Given the description of an element on the screen output the (x, y) to click on. 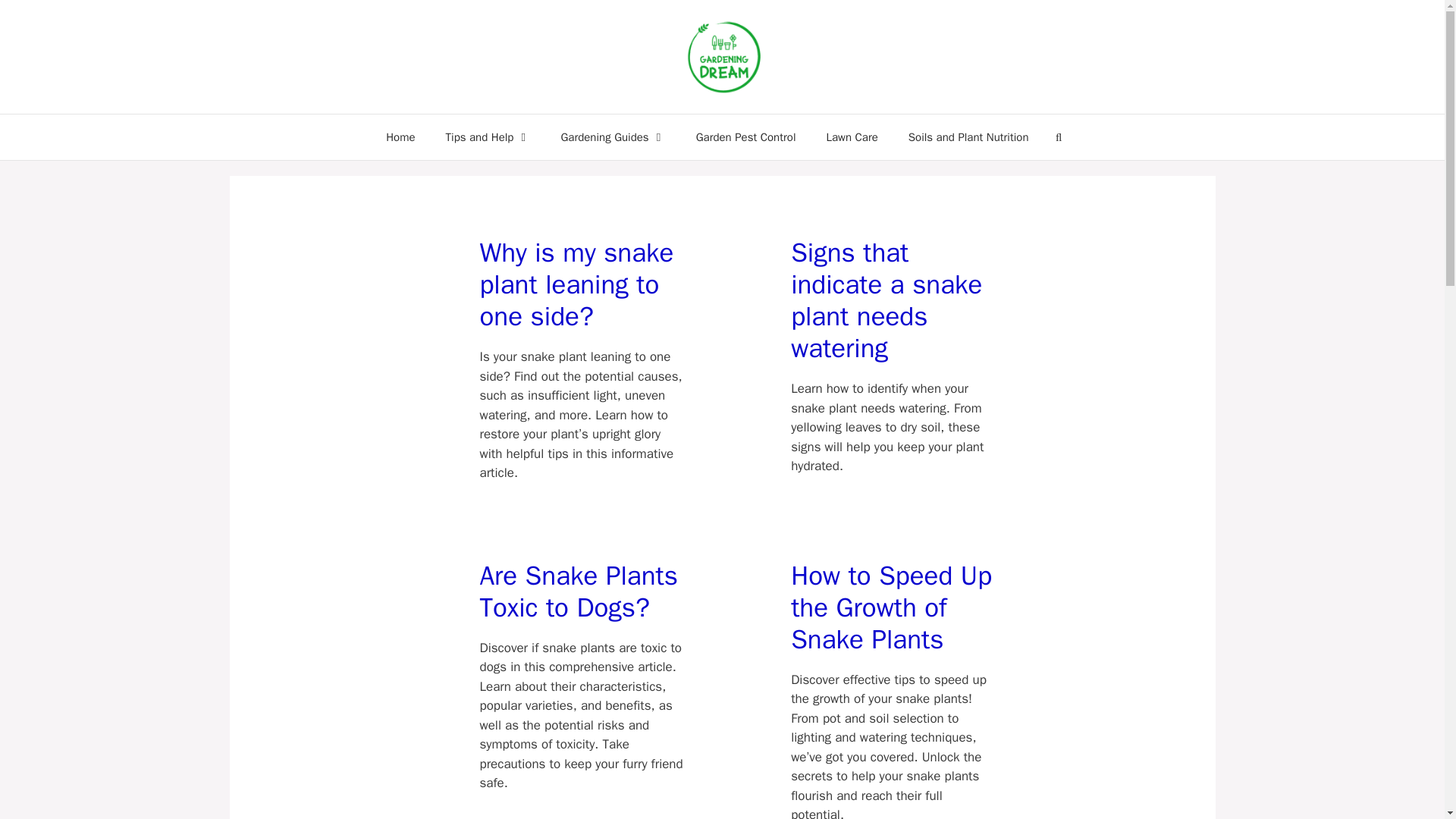
Garden Pest Control (745, 136)
Gardening Guides (611, 136)
Tips and Help (488, 136)
Soils and Plant Nutrition (968, 136)
How to Speed Up the Growth of Snake Plants (892, 607)
Are Snake Plants Toxic to Dogs? (580, 591)
Lawn Care (851, 136)
Home (400, 136)
Signs that indicate a snake plant needs watering (892, 299)
Why is my snake plant leaning to one side? (580, 284)
